Given the description of an element on the screen output the (x, y) to click on. 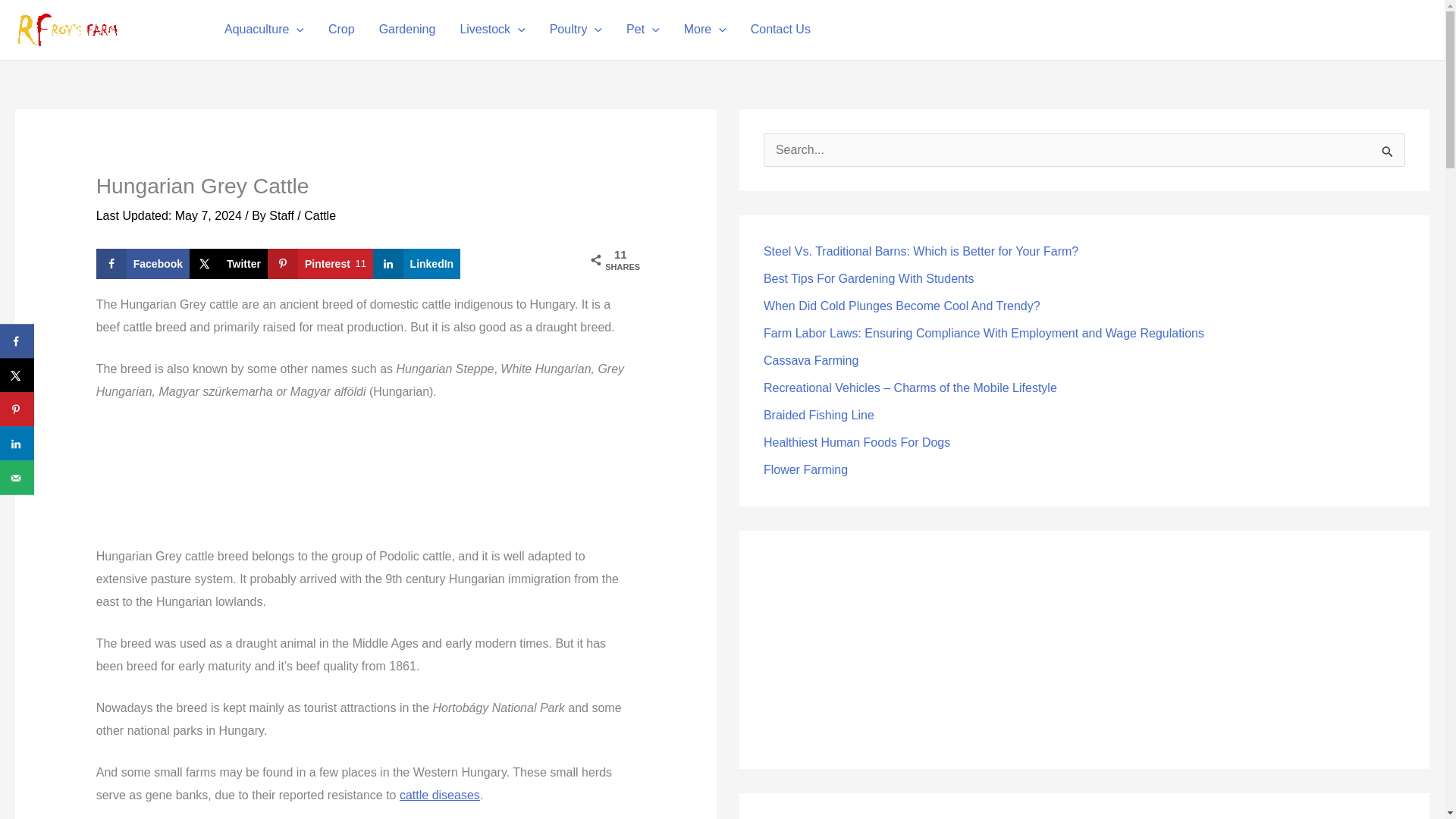
Advertisement (365, 480)
Aquaculture (263, 29)
View all posts by Staff (283, 215)
Share on LinkedIn (416, 263)
Save to Pinterest (319, 263)
Search (1388, 154)
Search (1388, 154)
More (704, 29)
Pet (642, 29)
Gardening (407, 29)
Livestock (491, 29)
Crop (340, 29)
Share on Facebook (142, 263)
Share on X (228, 263)
Poultry (575, 29)
